Given the description of an element on the screen output the (x, y) to click on. 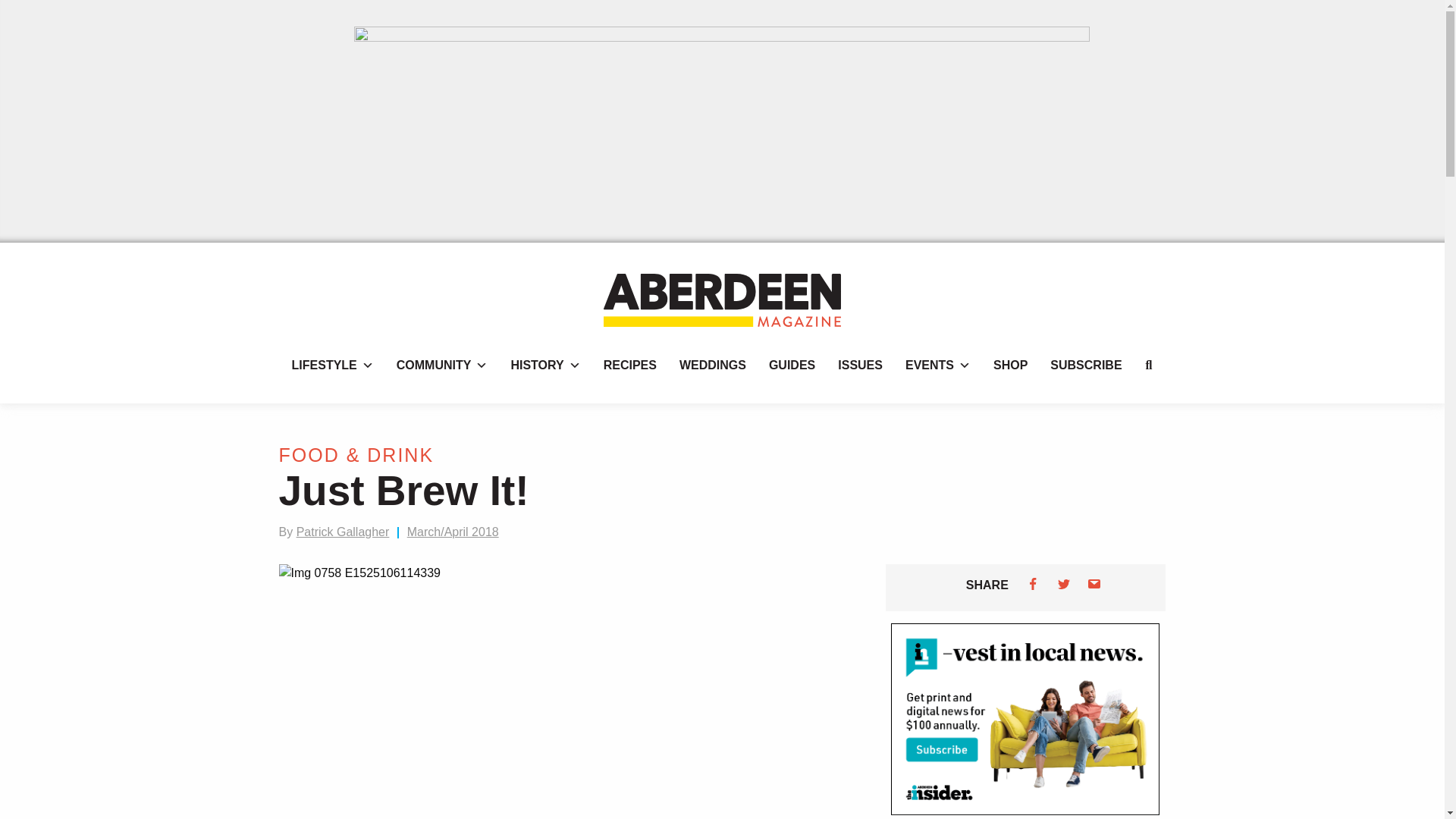
LIFESTYLE (333, 365)
Share on Facebook (1032, 584)
Tweet this (1064, 584)
